Given the description of an element on the screen output the (x, y) to click on. 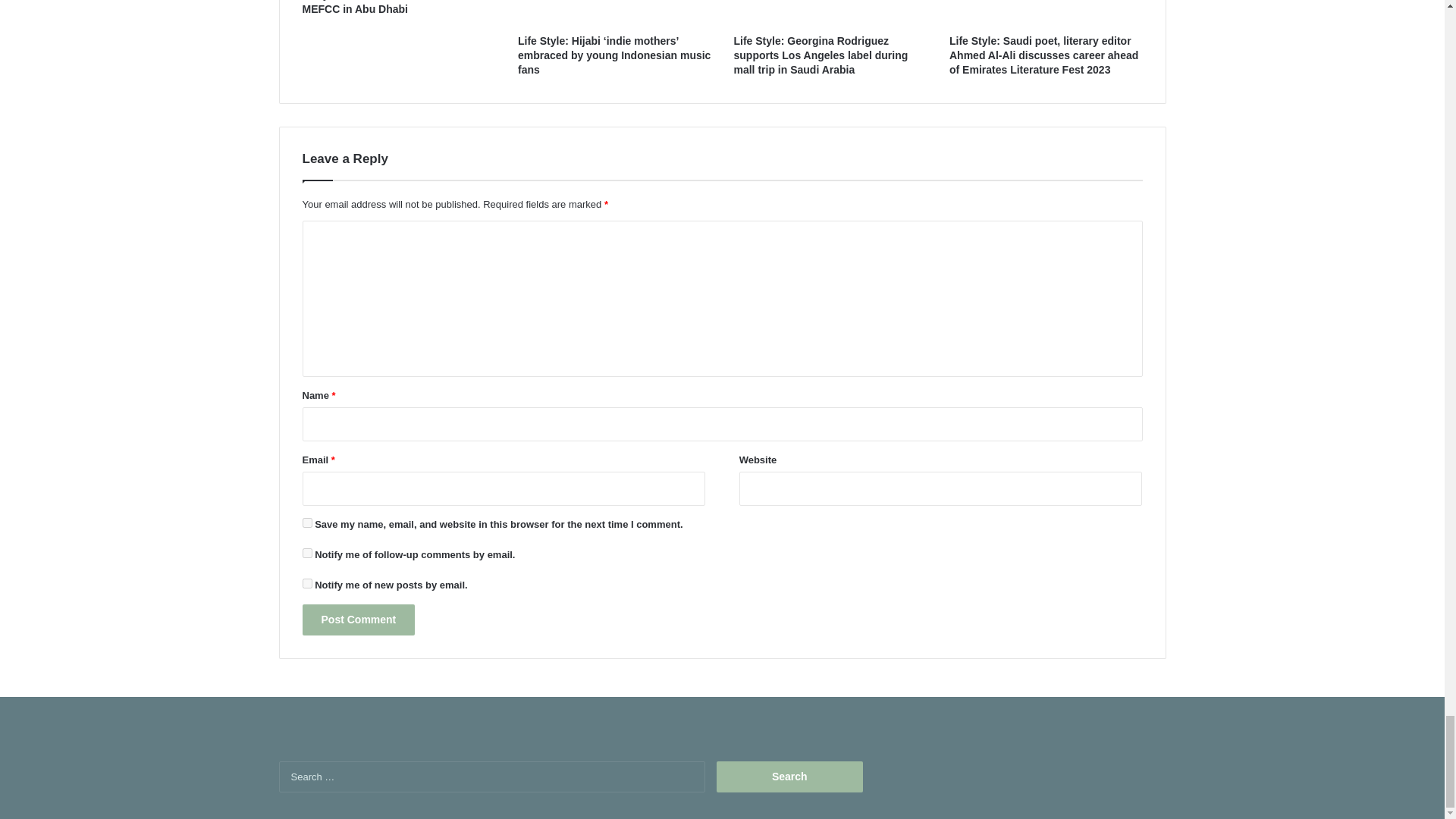
yes (306, 522)
subscribe (306, 583)
Post Comment (357, 619)
Search (789, 776)
Search (789, 776)
subscribe (306, 552)
